Given the description of an element on the screen output the (x, y) to click on. 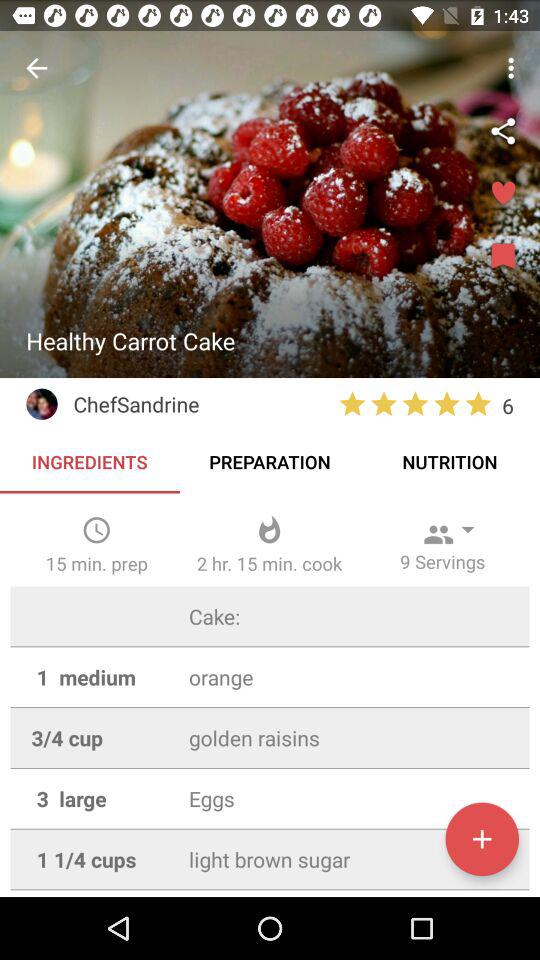
setting (503, 131)
